Given the description of an element on the screen output the (x, y) to click on. 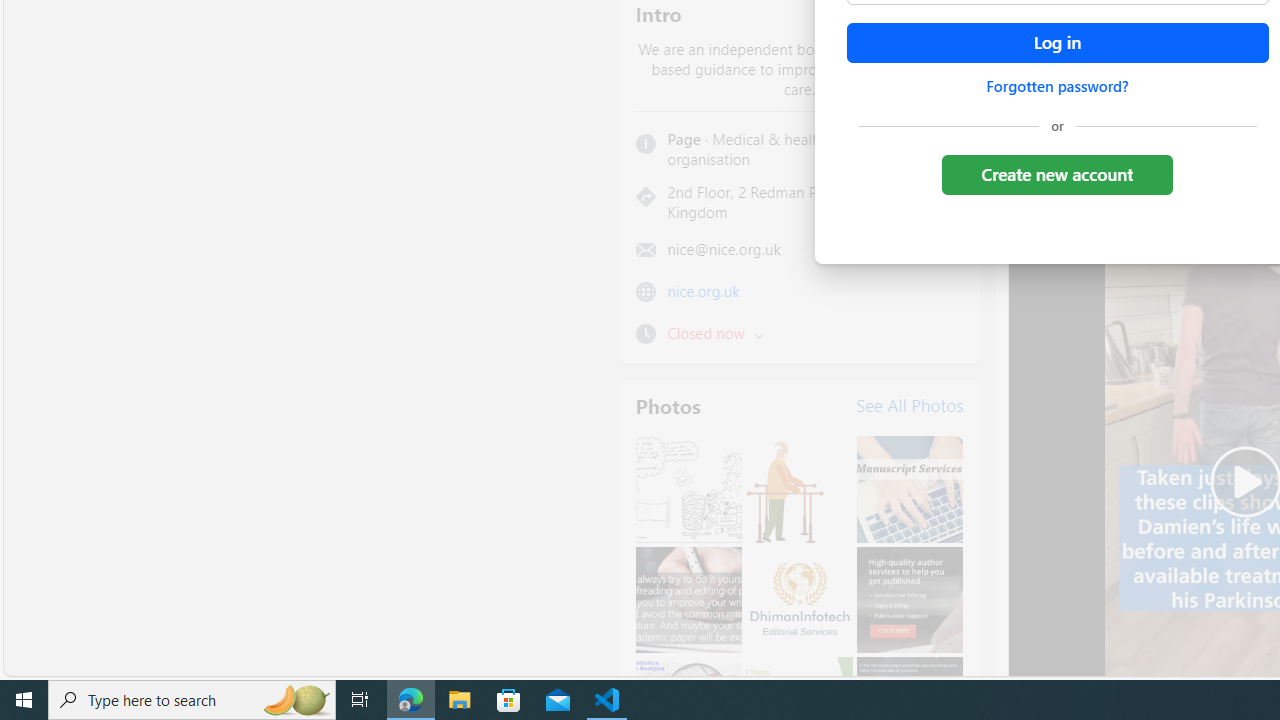
Accessible login button (1057, 43)
Create new account (1056, 174)
Forgotten password? (1057, 85)
